Given the description of an element on the screen output the (x, y) to click on. 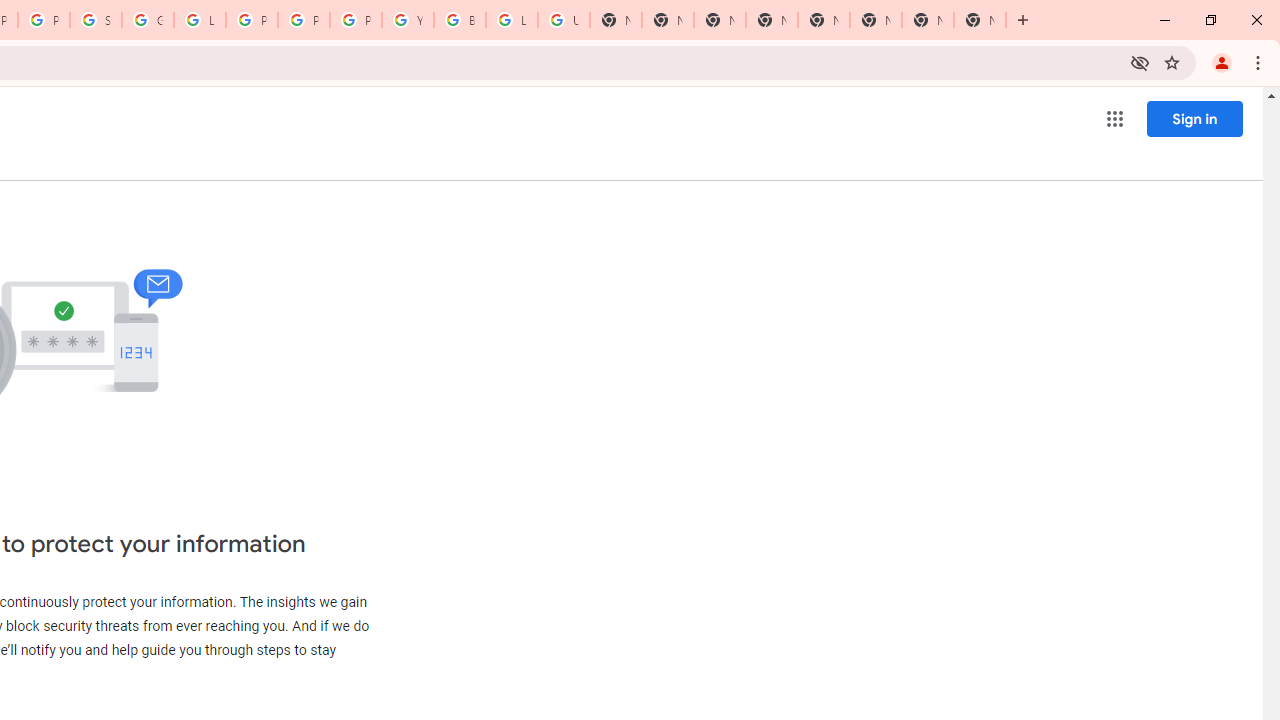
Sign in - Google Accounts (95, 20)
